Given the description of an element on the screen output the (x, y) to click on. 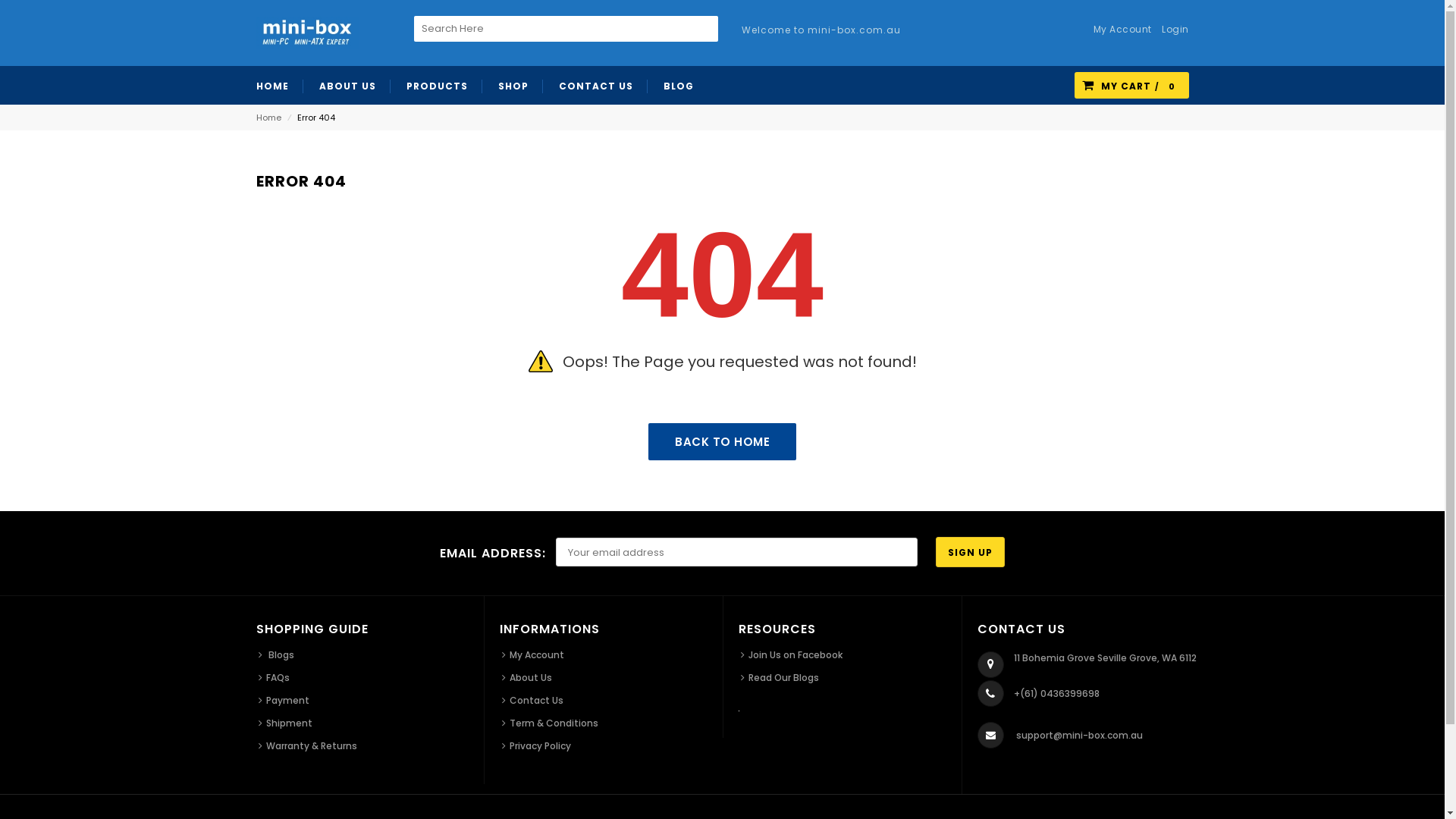
Privacy Policy Element type: text (536, 745)
Sign up Element type: text (969, 551)
My Account Element type: text (1118, 32)
Contact Us Element type: text (532, 700)
BACK TO HOME Element type: text (722, 441)
CONTACT US Element type: text (595, 84)
FAQs Element type: text (272, 677)
My Account Element type: text (533, 654)
Warranty & Returns Element type: text (306, 745)
BLOG Element type: text (677, 84)
Term & Conditions Element type: text (550, 723)
SHOP Element type: text (512, 84)
About Us Element type: text (527, 677)
HOME Element type: text (279, 84)
Home Element type: text (268, 117)
Login Element type: text (1171, 32)
MY CART 0 Element type: text (1130, 85)
Shipment Element type: text (284, 723)
Blogs Element type: text (275, 654)
SiteLock Element type: hover (738, 710)
PRODUCTS Element type: text (437, 84)
support@mini-box.com.au Element type: text (1079, 734)
ABOUT US Element type: text (346, 84)
Join Us on Facebook Element type: text (790, 654)
Read Our Blogs Element type: text (779, 677)
Payment Element type: text (282, 700)
